Given the description of an element on the screen output the (x, y) to click on. 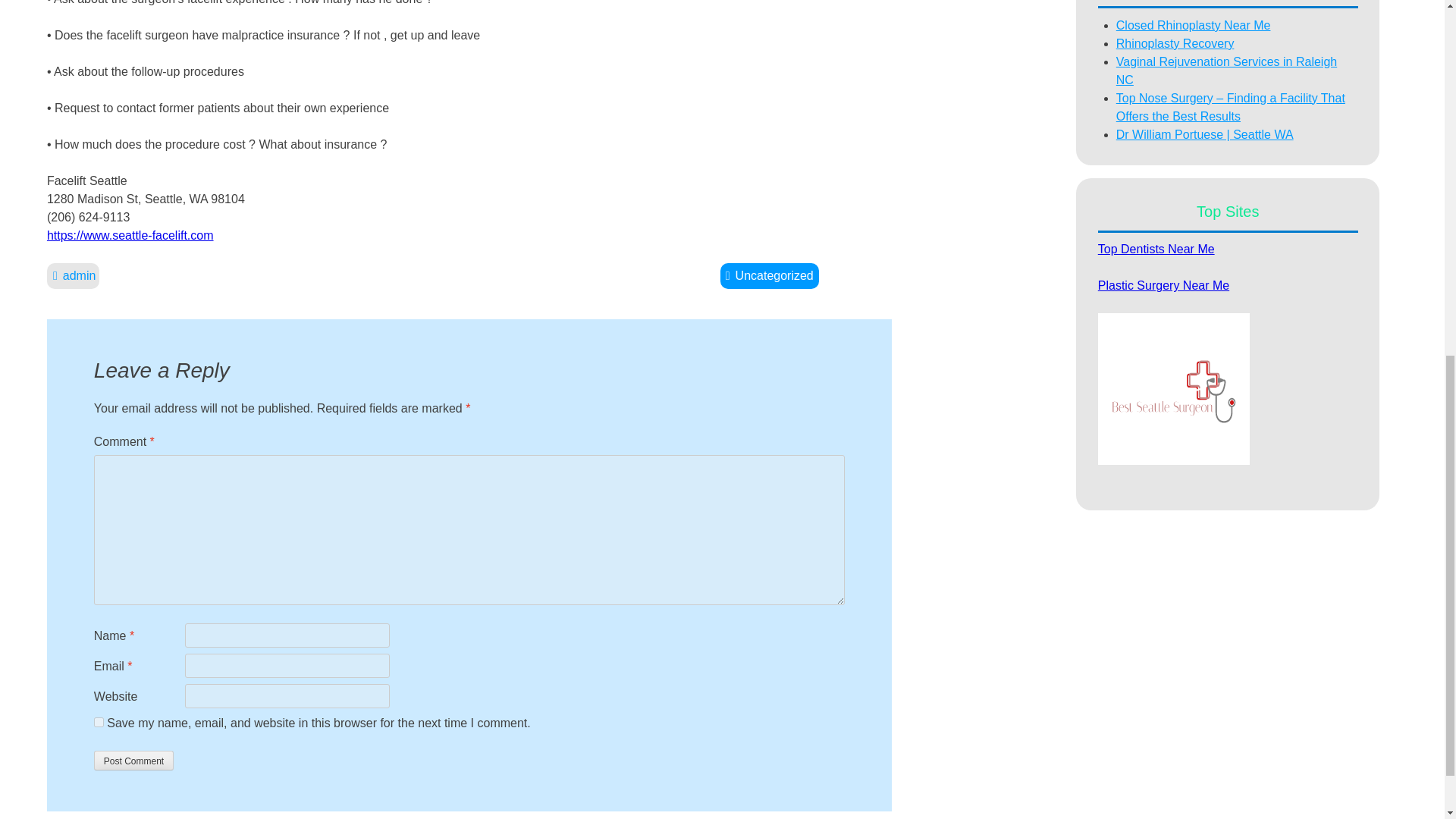
Closed Rhinoplasty Near Me (1193, 24)
Vaginal Rejuvenation Services in Raleigh NC (1226, 70)
Post Comment (133, 760)
Plastic Surgery Near Me (1162, 285)
Uncategorized (769, 275)
Top Dentists Near Me (1155, 248)
yes (98, 722)
Rhinoplasty Recovery (1175, 42)
admin (72, 275)
Post Comment (133, 760)
Posts by admin (72, 275)
